Given the description of an element on the screen output the (x, y) to click on. 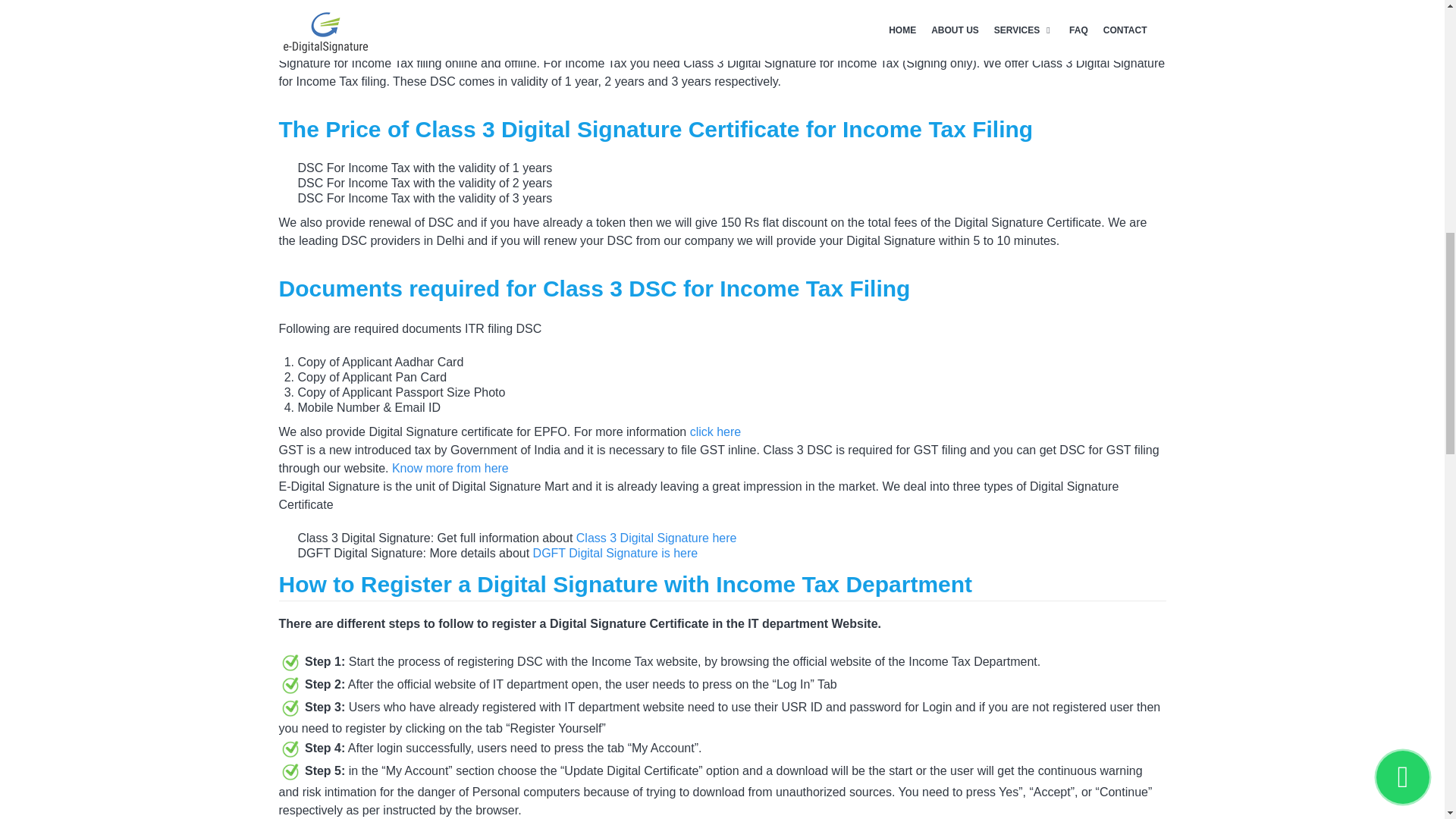
DGFT Digital Signature is here (615, 553)
Class 3 Digital Signature here (656, 537)
click here (715, 431)
Know more from here (449, 468)
